Given the description of an element on the screen output the (x, y) to click on. 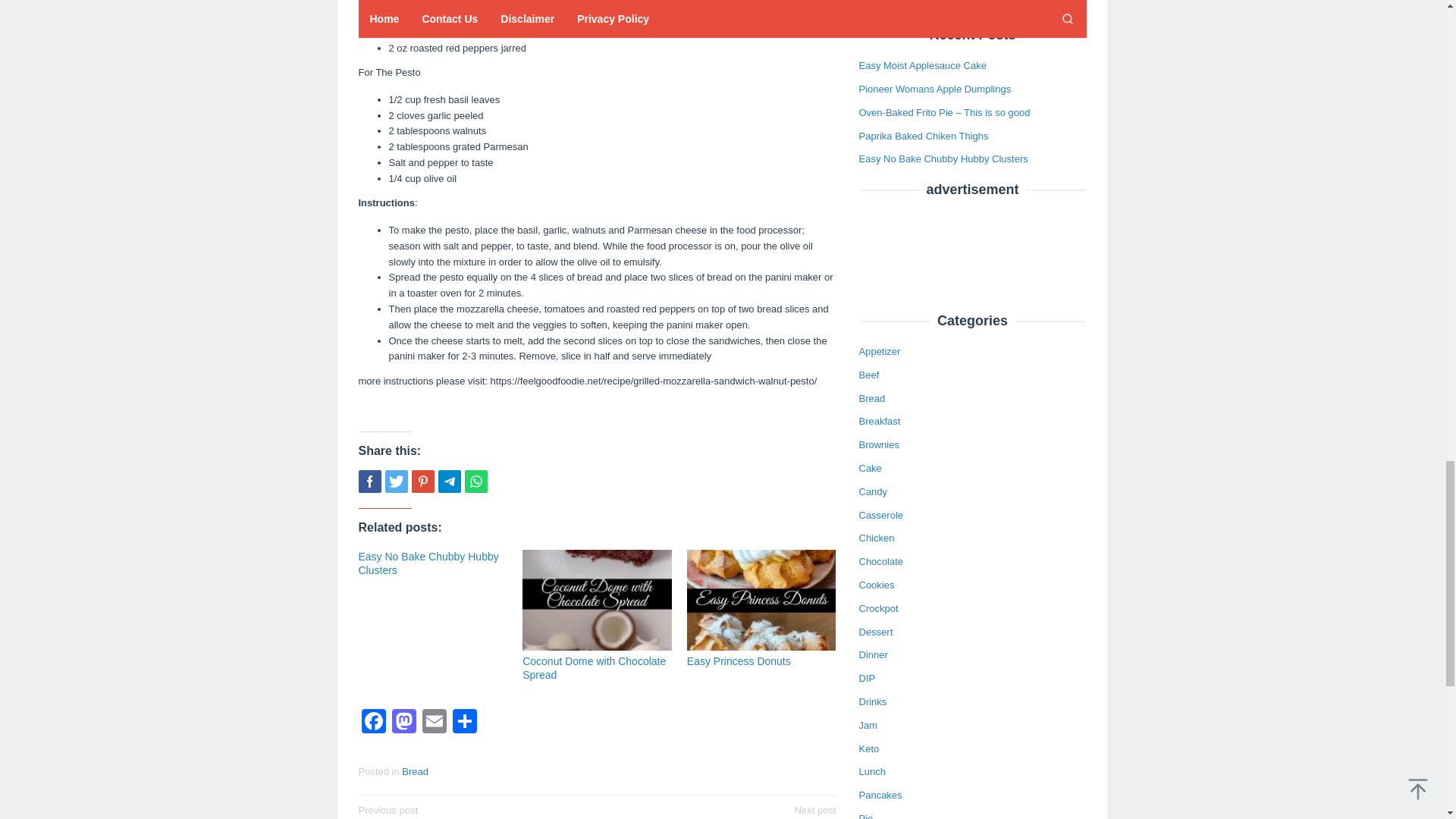
Easy No Bake Chubby Hubby Clusters (427, 563)
Coconut Dome with Chocolate Spread (593, 667)
Facebook (373, 723)
Share this (369, 481)
Easy Princess Donuts (738, 661)
Email (721, 811)
Bread (433, 723)
Pin this (414, 771)
Mastodon (421, 481)
Tweet this (472, 811)
